Given the description of an element on the screen output the (x, y) to click on. 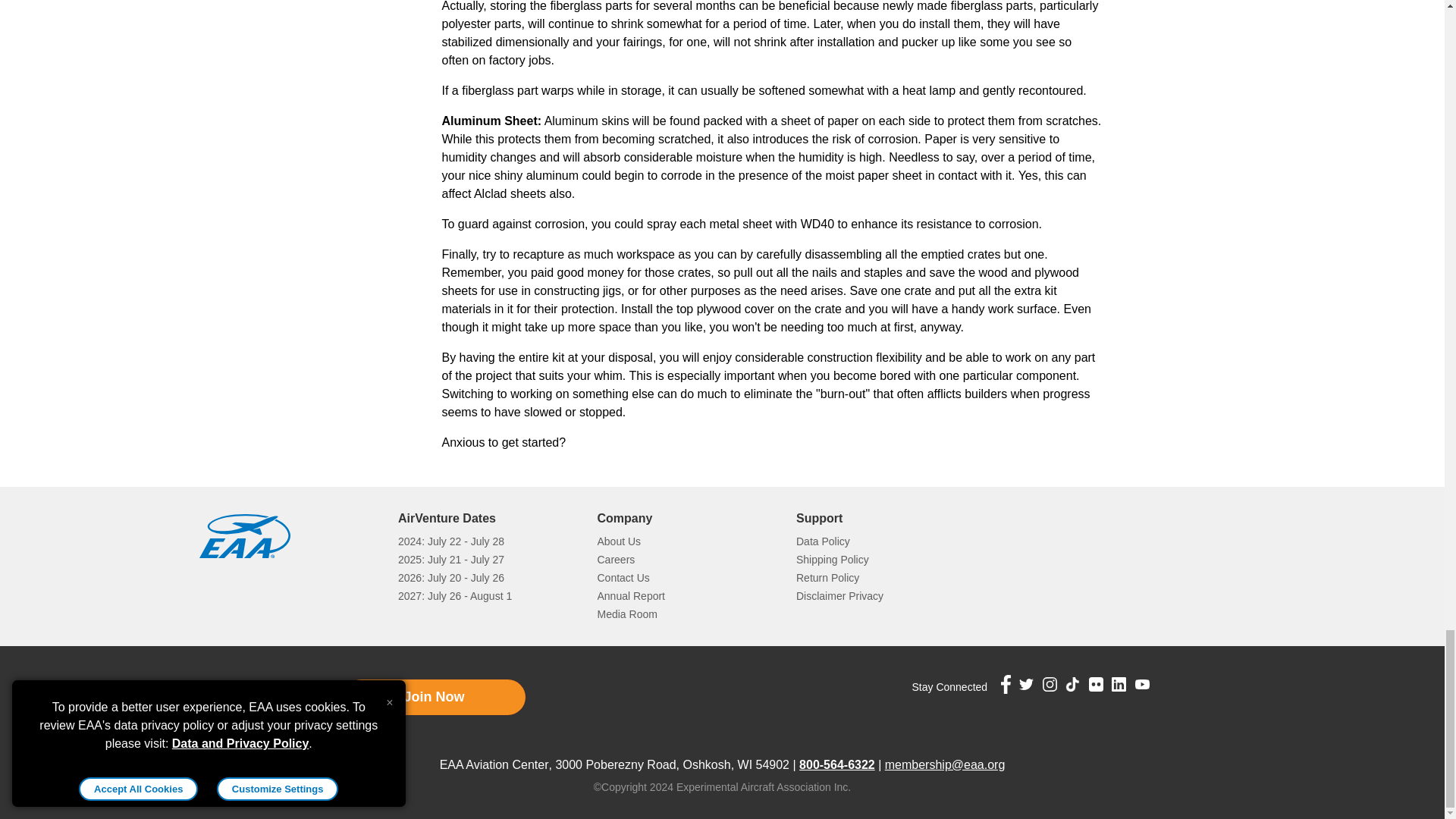
Join Now (433, 696)
